Given the description of an element on the screen output the (x, y) to click on. 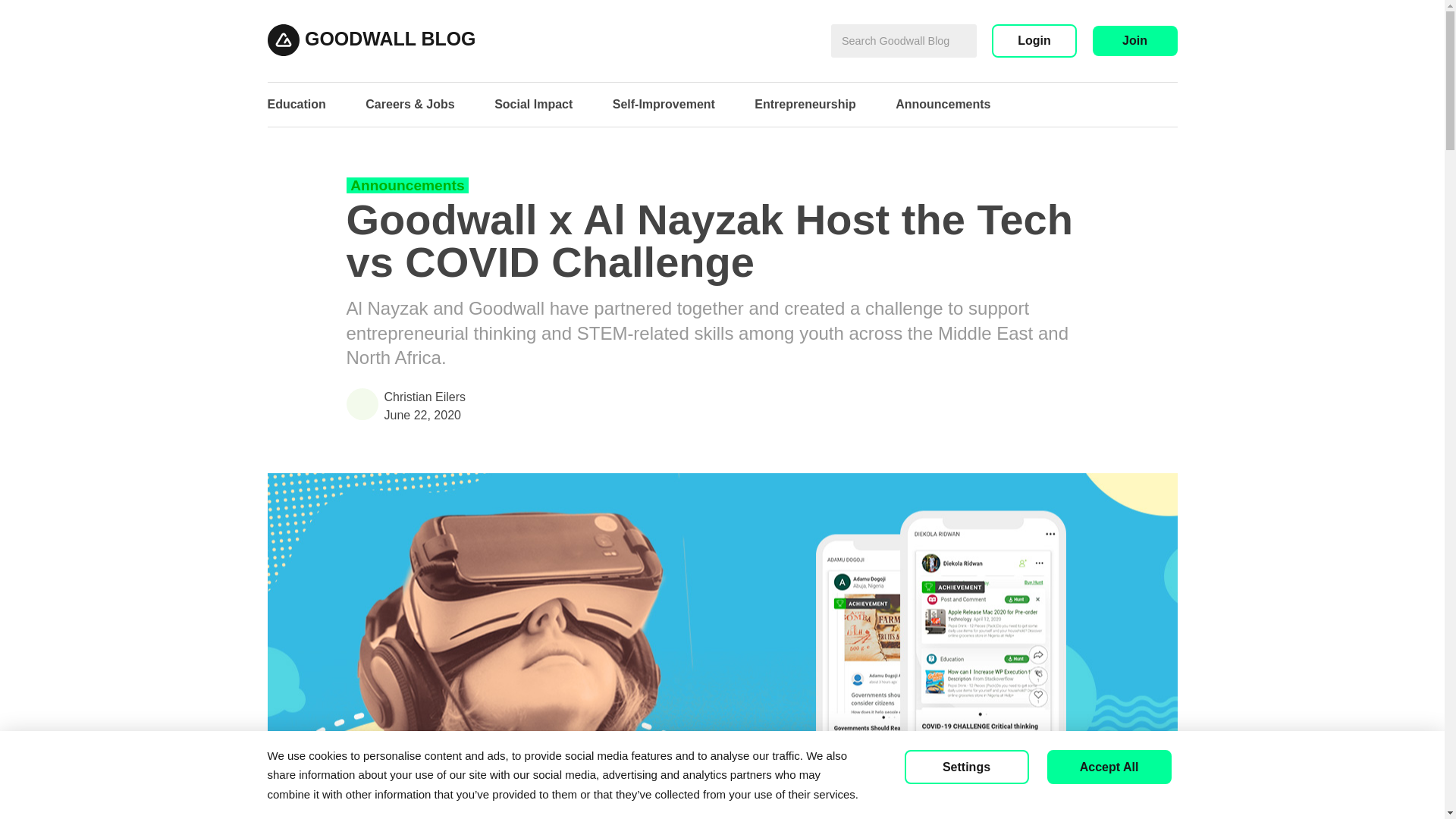
Education (295, 103)
Announcements (407, 185)
Social Impact (533, 103)
Posts by Christian Eilers (721, 397)
Entrepreneurship (805, 103)
June 22, 2020 (721, 415)
Go to Goodwall.io (285, 38)
Join (1134, 40)
Self-Improvement (663, 103)
Christian Eilers (721, 397)
